Given the description of an element on the screen output the (x, y) to click on. 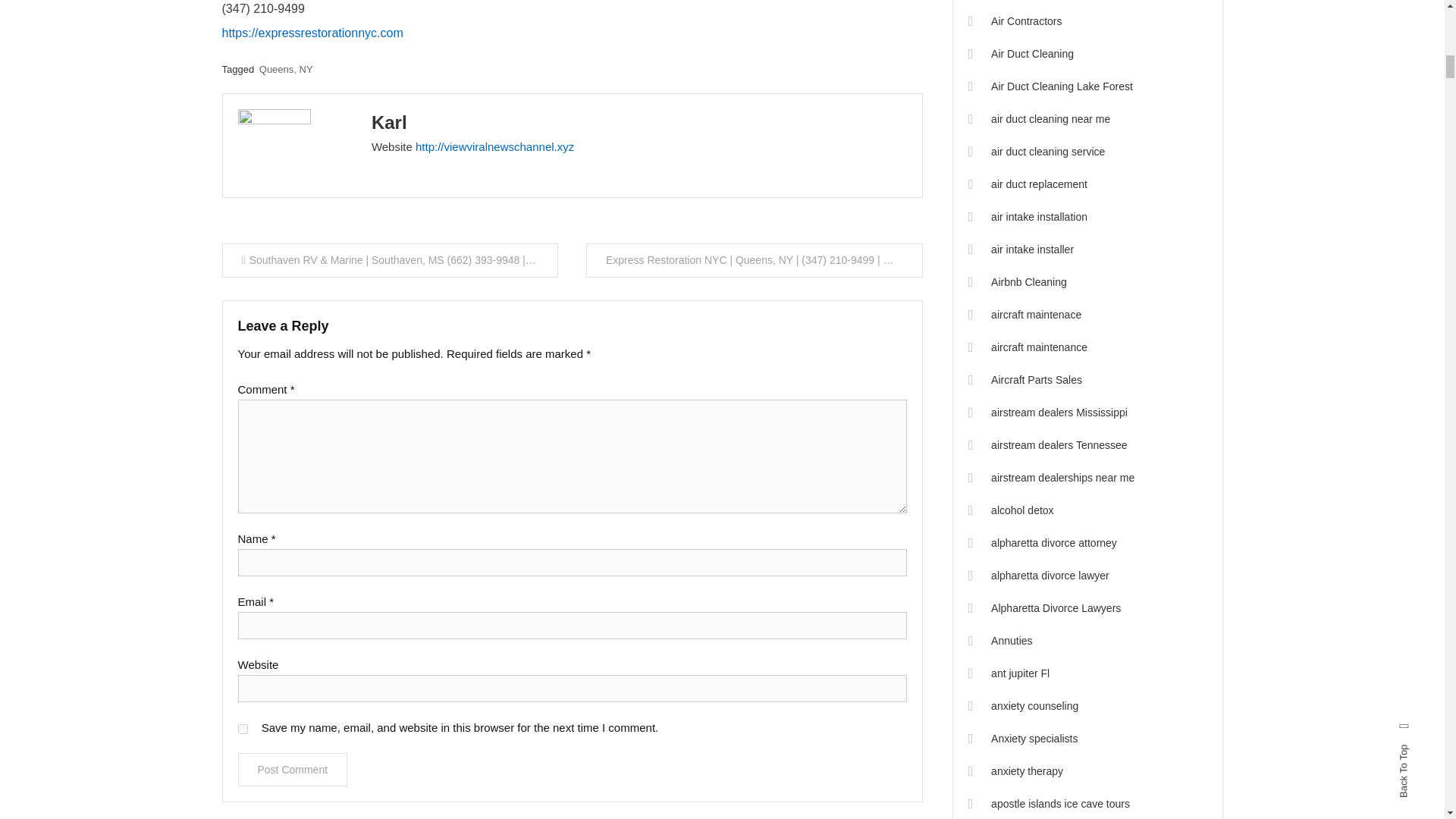
Posts by Karl (389, 122)
Post Comment (292, 769)
yes (242, 728)
